Given the description of an element on the screen output the (x, y) to click on. 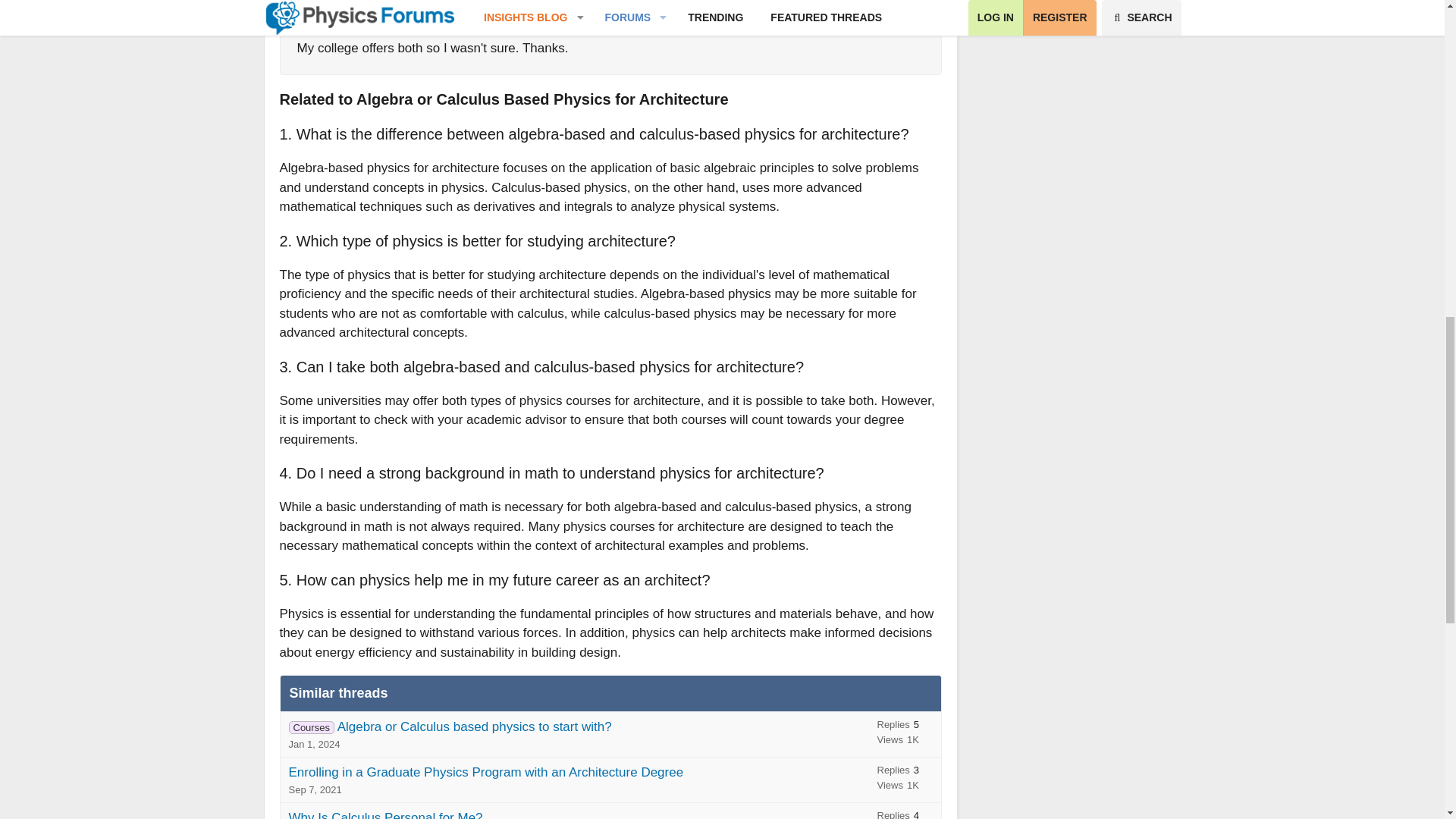
Jan 1, 2024 at 12:34 AM (313, 744)
Reaction score (908, 11)
